Given the description of an element on the screen output the (x, y) to click on. 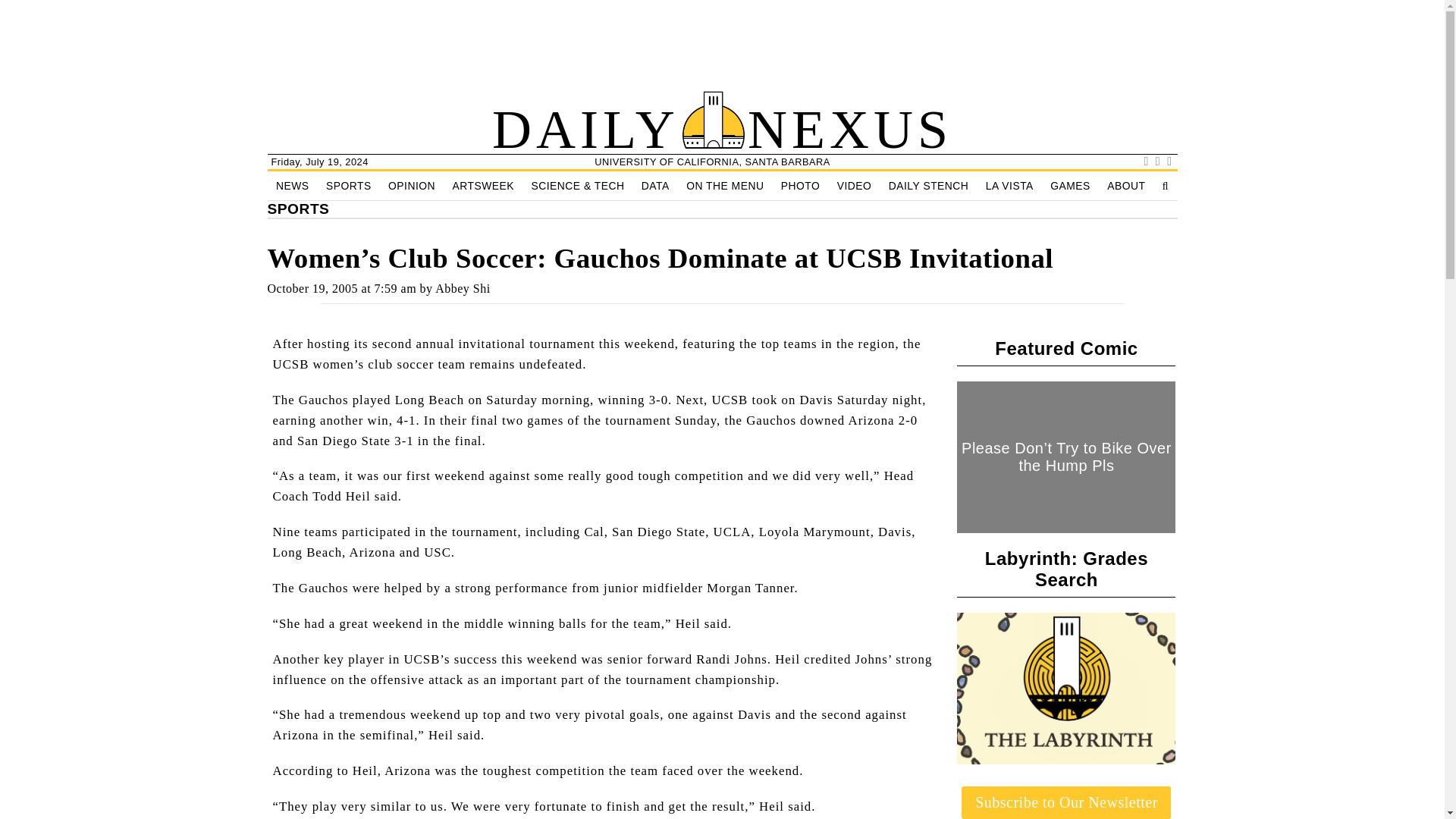
Posts by Abbey Shi (462, 287)
